Given the description of an element on the screen output the (x, y) to click on. 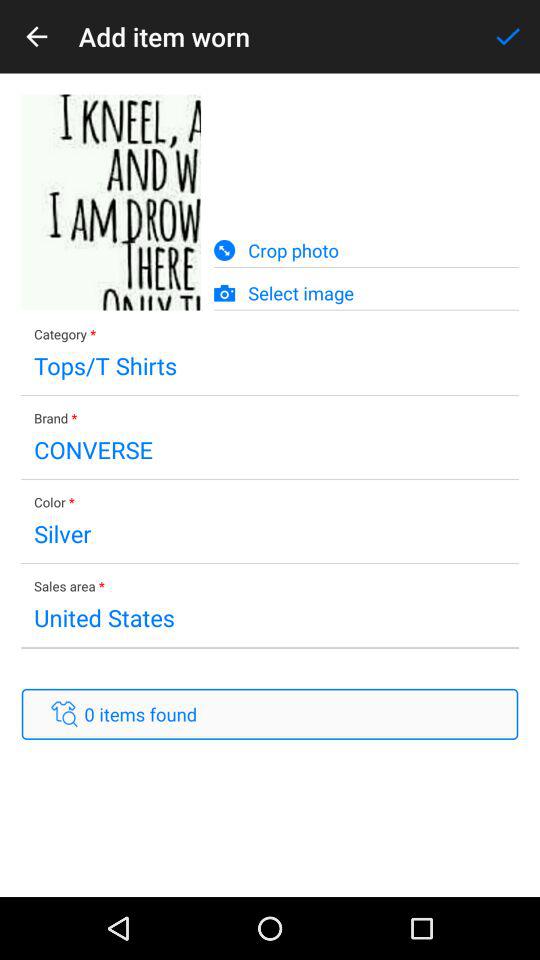
select icon next to the add item worn icon (36, 36)
